Given the description of an element on the screen output the (x, y) to click on. 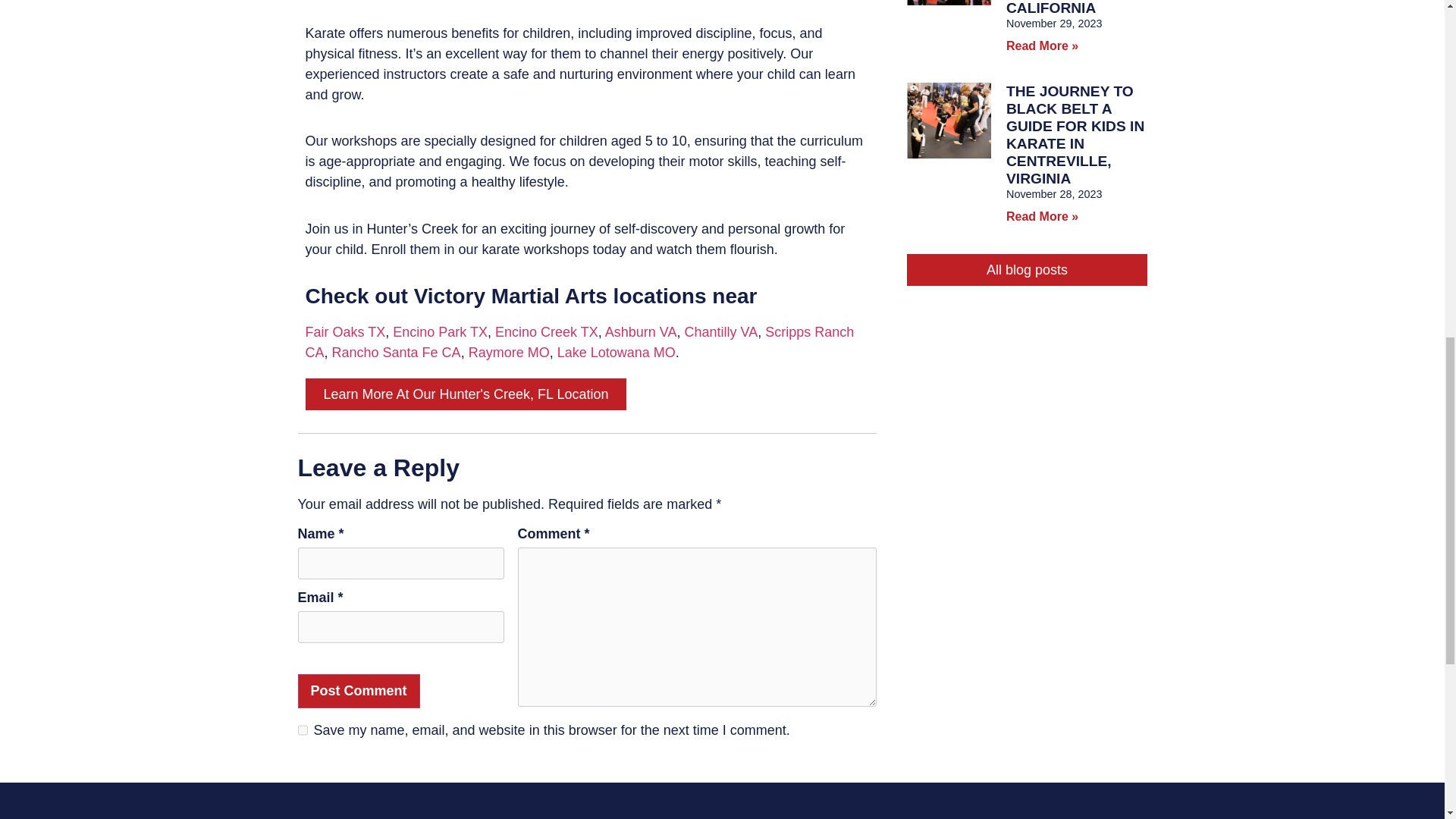
Post Comment (358, 691)
